Given the description of an element on the screen output the (x, y) to click on. 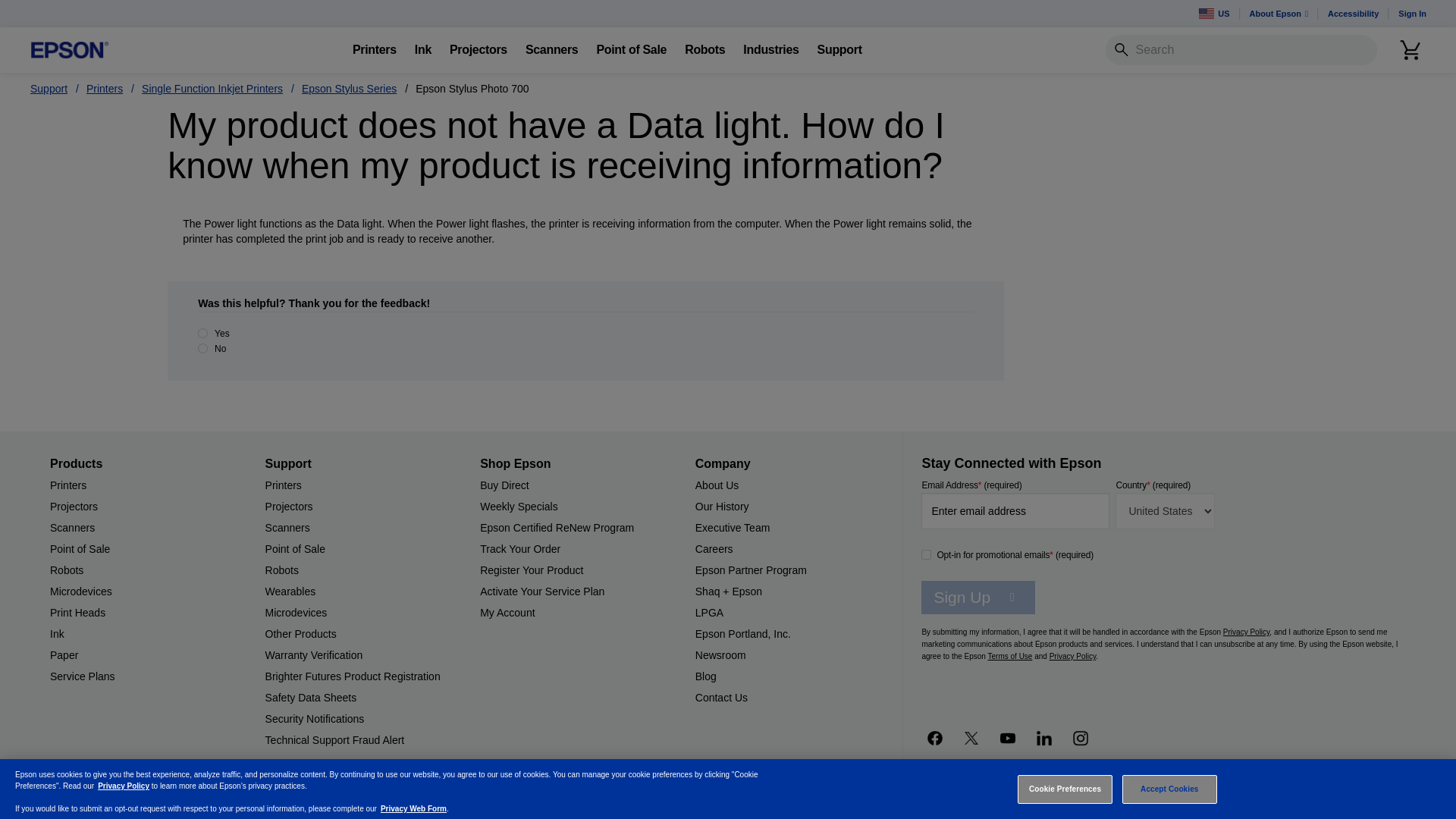
Epson Logo (69, 49)
on (926, 554)
Sign In (1412, 13)
Accessibility (1353, 13)
Sign In (1412, 13)
About Epson (1278, 13)
yes (203, 333)
no (203, 347)
US (1214, 13)
US (1214, 13)
Accessibility (1353, 13)
